Given the description of an element on the screen output the (x, y) to click on. 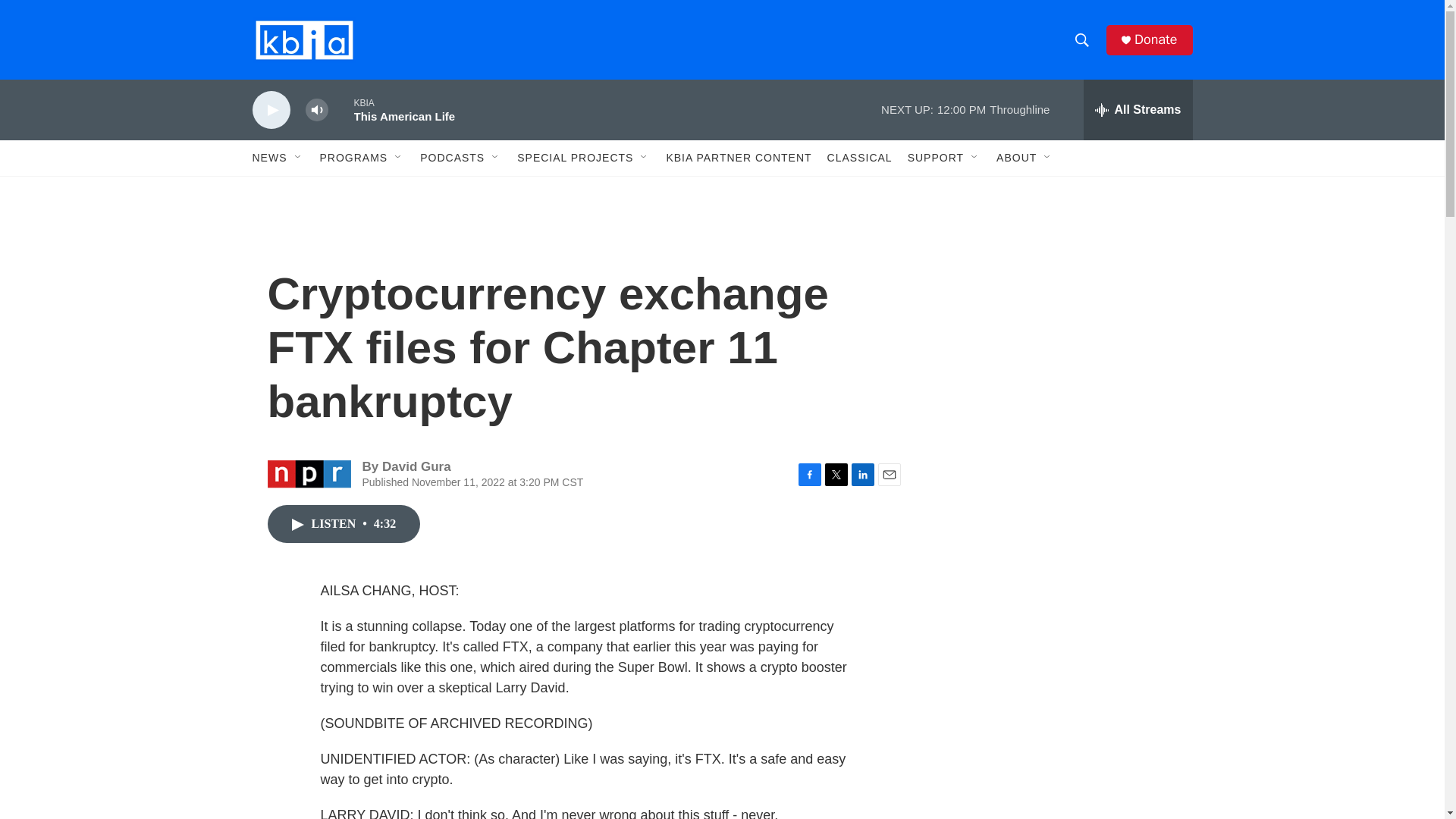
3rd party ad content (1062, 316)
3rd party ad content (1062, 536)
3rd party ad content (1062, 740)
